Given the description of an element on the screen output the (x, y) to click on. 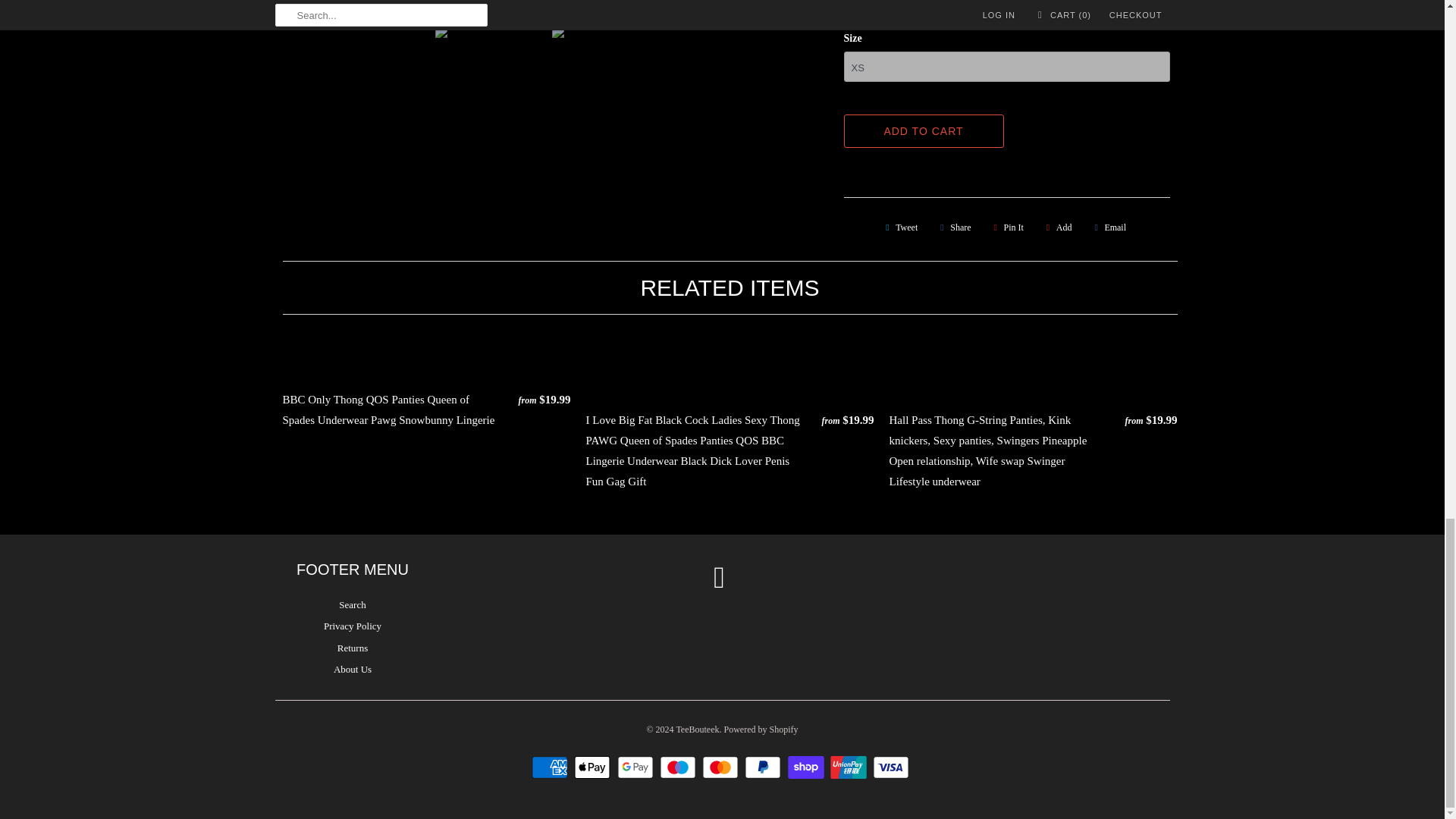
Visa (892, 766)
PayPal (764, 766)
Google Pay (637, 766)
Apple Pay (593, 766)
Union Pay (849, 766)
Maestro (679, 766)
Shop Pay (807, 766)
Mastercard (721, 766)
American Express (551, 766)
